Given the description of an element on the screen output the (x, y) to click on. 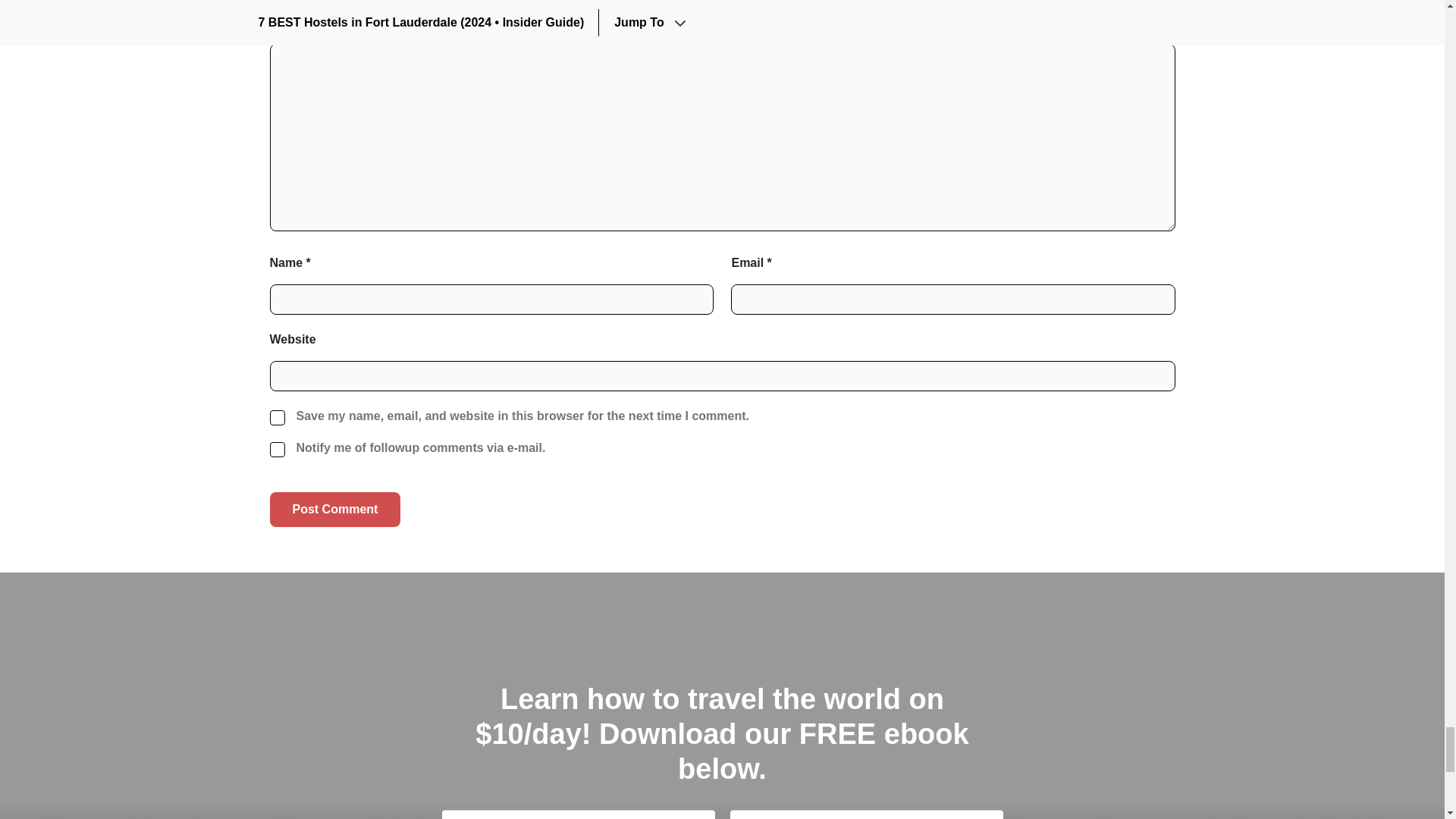
Post Comment (335, 509)
yes (277, 417)
yes (277, 449)
